Given the description of an element on the screen output the (x, y) to click on. 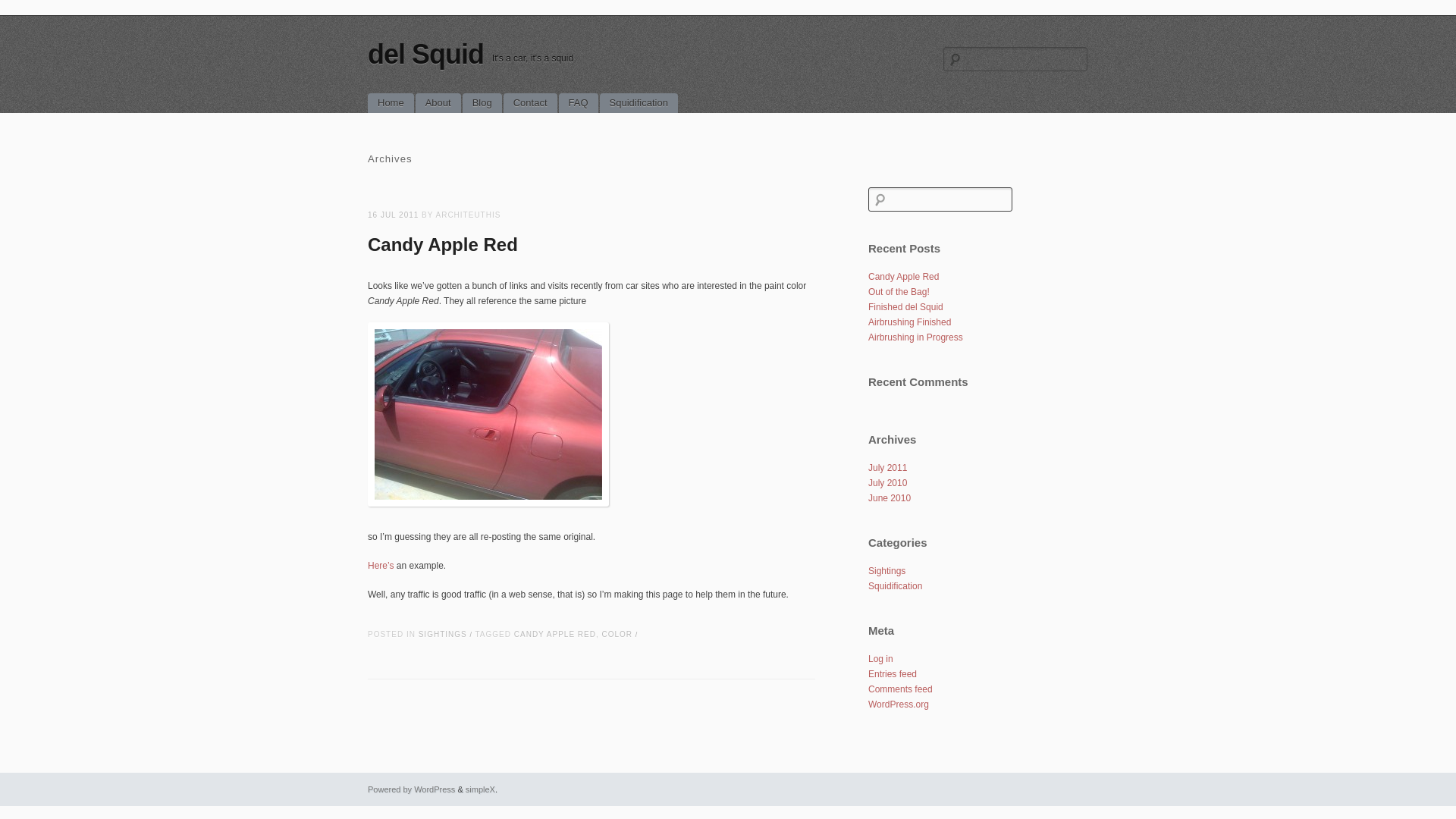
CANDY APPLE RED (554, 633)
About (437, 103)
SIGHTINGS (443, 633)
Out of the Bag! (898, 291)
Permalink to Candy Apple Red (443, 244)
Squidification (894, 585)
Search (20, 9)
COLOR (617, 633)
Airbrushing Finished (908, 321)
Comments feed (900, 688)
Candy Apple Red (903, 276)
simpleX (480, 788)
Blog (482, 103)
July 2010 (887, 482)
Powered by WordPress (411, 788)
